Given the description of an element on the screen output the (x, y) to click on. 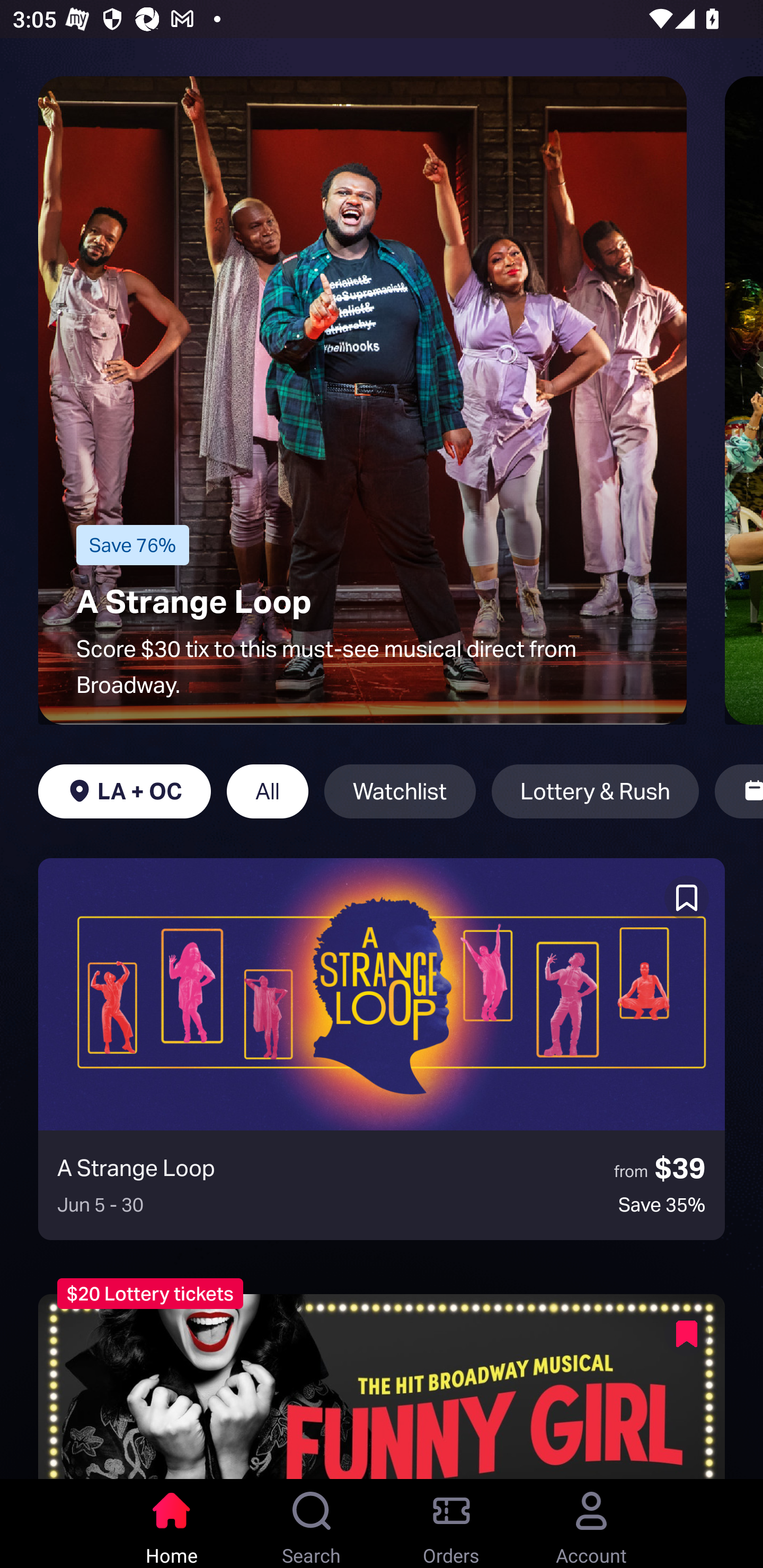
LA + OC (124, 791)
All (267, 791)
Watchlist (400, 791)
Lottery & Rush (594, 791)
A Strange Loop from $39 Jun 5 - 30 Save 35% (381, 1048)
Search (311, 1523)
Orders (451, 1523)
Account (591, 1523)
